Given the description of an element on the screen output the (x, y) to click on. 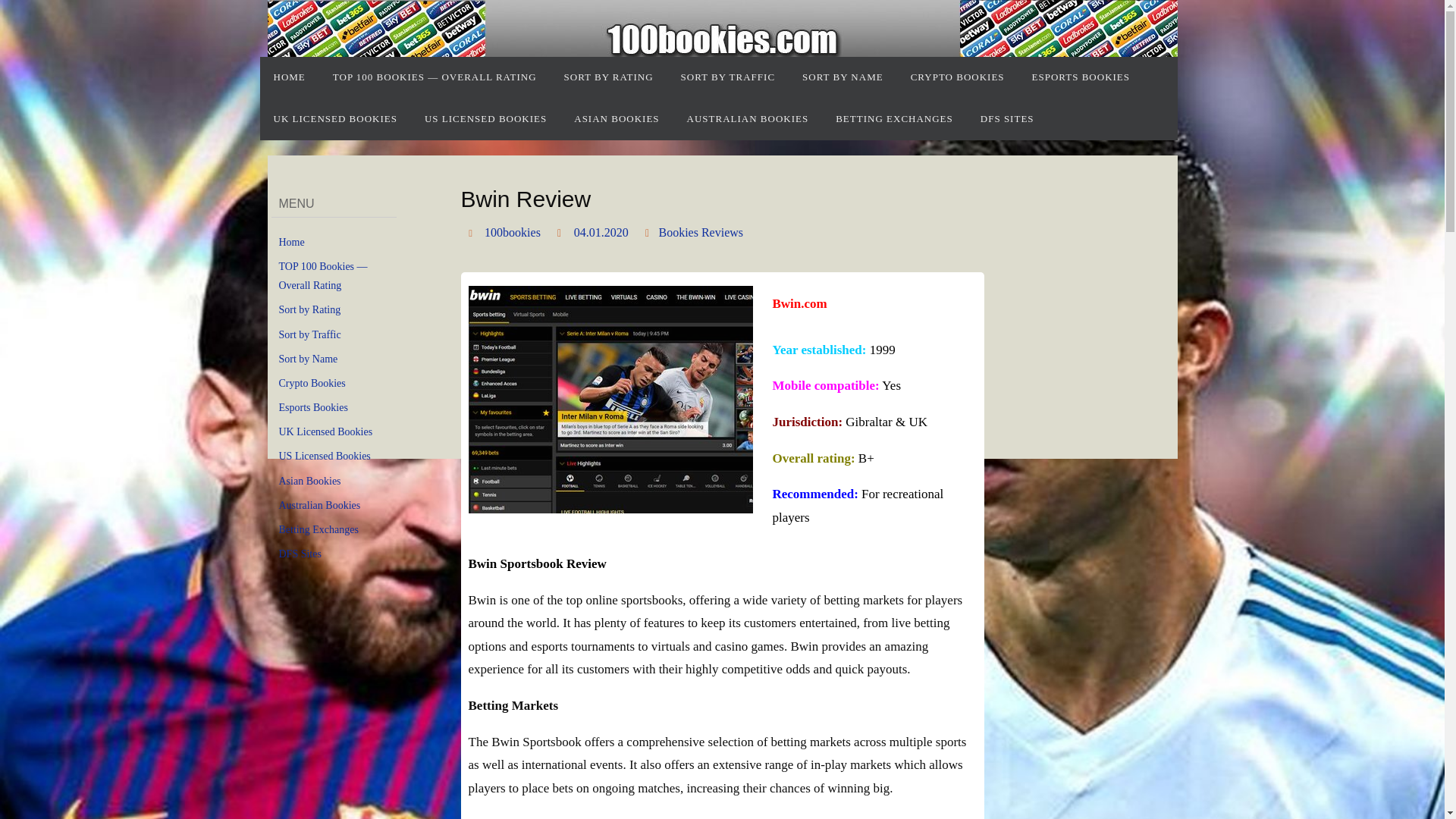
Sort by Traffic (309, 335)
DFS SITES (1007, 119)
Date (560, 232)
Author  (472, 232)
Sort by Name (308, 358)
ASIAN BOOKIES (616, 119)
04.01.2020 (600, 232)
Bookies Reviews (700, 232)
ESPORTS BOOKIES (1079, 77)
View all posts by 100bookies (512, 232)
Sort by Rating (309, 309)
100bookies (512, 232)
Australian Bookies (320, 505)
SORT BY NAME (842, 77)
